Given the description of an element on the screen output the (x, y) to click on. 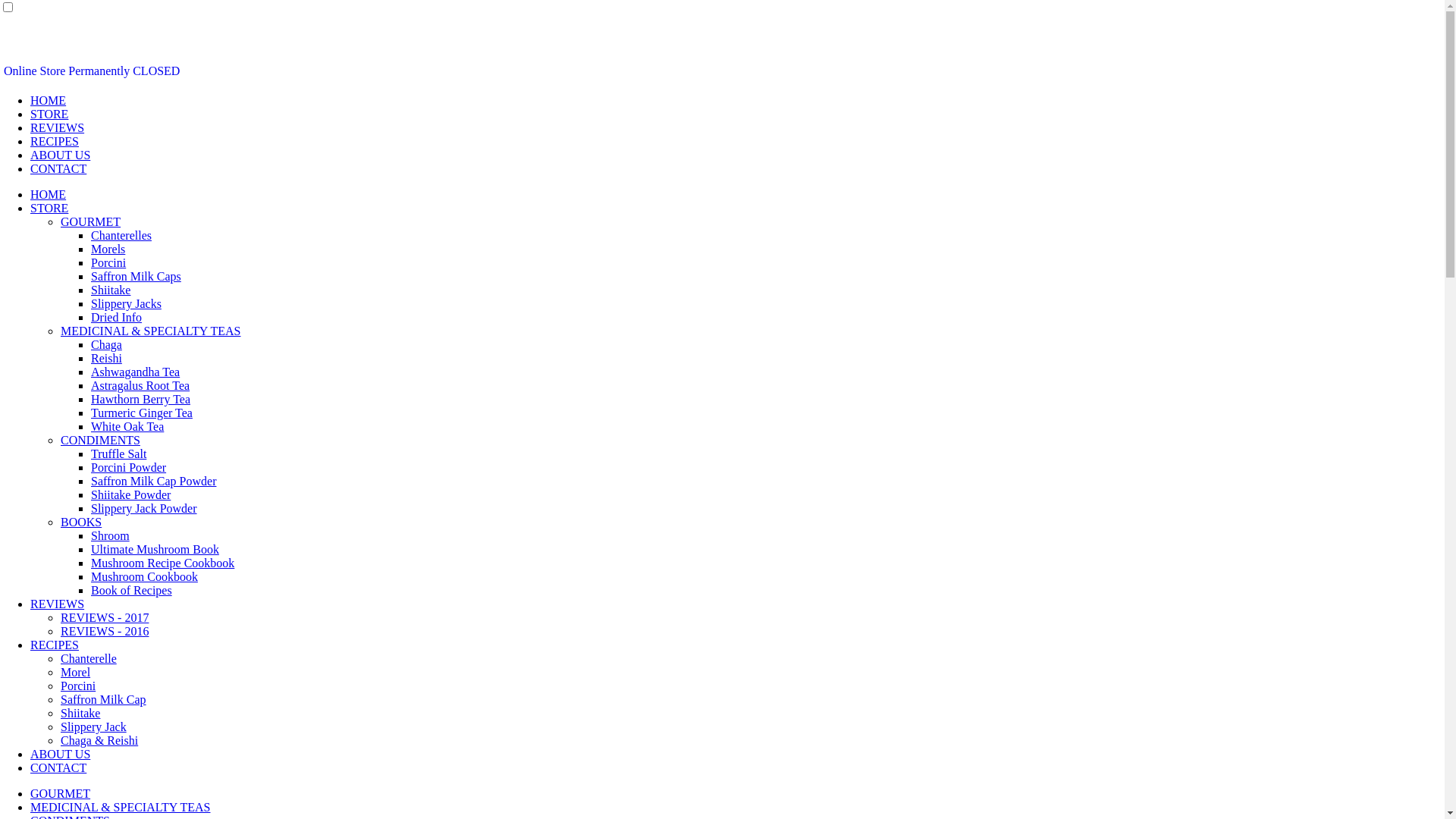
Chanterelle Element type: text (88, 658)
Turmeric Ginger Tea Element type: text (141, 412)
GOURMET Element type: text (60, 793)
Shiitake Element type: text (110, 289)
REVIEWS - 2016 Element type: text (104, 630)
Saffron Milk Cap Powder Element type: text (153, 480)
ABOUT US Element type: text (60, 154)
Porcini Element type: text (108, 262)
Astragalus Root Tea Element type: text (140, 385)
Porcini Powder Element type: text (128, 467)
STORE Element type: text (49, 207)
MEDICINAL & SPECIALTY TEAS Element type: text (150, 330)
Porcini Element type: text (77, 685)
RECIPES Element type: text (54, 140)
Dried Info Element type: text (116, 316)
Truffle Salt Element type: text (118, 453)
Shiitake Powder Element type: text (130, 494)
Ultimate Mushroom Book Element type: text (155, 548)
Chaga Element type: text (106, 344)
CONTACT Element type: text (58, 168)
CONTACT Element type: text (58, 767)
Mushroom Cookbook Element type: text (144, 576)
Shroom Element type: text (110, 535)
REVIEWS Element type: text (57, 603)
GOURMET Element type: text (90, 221)
Chanterelles Element type: text (121, 235)
HOME Element type: text (47, 100)
Slippery Jack Powder Element type: text (144, 508)
Reishi Element type: text (106, 357)
Slippery Jack Element type: text (93, 726)
Saffron Milk Caps Element type: text (136, 275)
White Oak Tea Element type: text (127, 426)
Shiitake Element type: text (80, 712)
STORE Element type: text (49, 113)
Morels Element type: text (108, 248)
RECIPES Element type: text (54, 644)
Mushroom Recipe Cookbook Element type: text (162, 562)
Slippery Jacks Element type: text (126, 303)
Saffron Milk Cap Element type: text (103, 699)
Ashwagandha Tea Element type: text (135, 371)
Chaga & Reishi Element type: text (99, 740)
MEDICINAL & SPECIALTY TEAS Element type: text (120, 806)
Hawthorn Berry Tea Element type: text (140, 398)
ABOUT US Element type: text (60, 753)
REVIEWS Element type: text (57, 127)
Morel Element type: text (75, 671)
REVIEWS - 2017 Element type: text (104, 617)
Online Store Permanently CLOSED Element type: text (91, 70)
BOOKS Element type: text (80, 521)
CONDIMENTS Element type: text (100, 439)
HOME Element type: text (47, 194)
Book of Recipes Element type: text (131, 589)
